Given the description of an element on the screen output the (x, y) to click on. 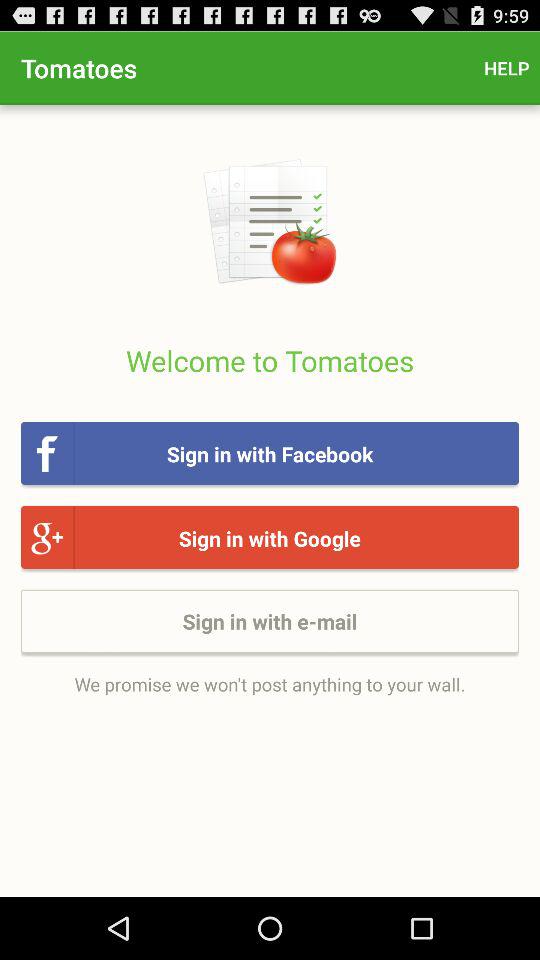
select the icon next to tomatoes icon (506, 67)
